Given the description of an element on the screen output the (x, y) to click on. 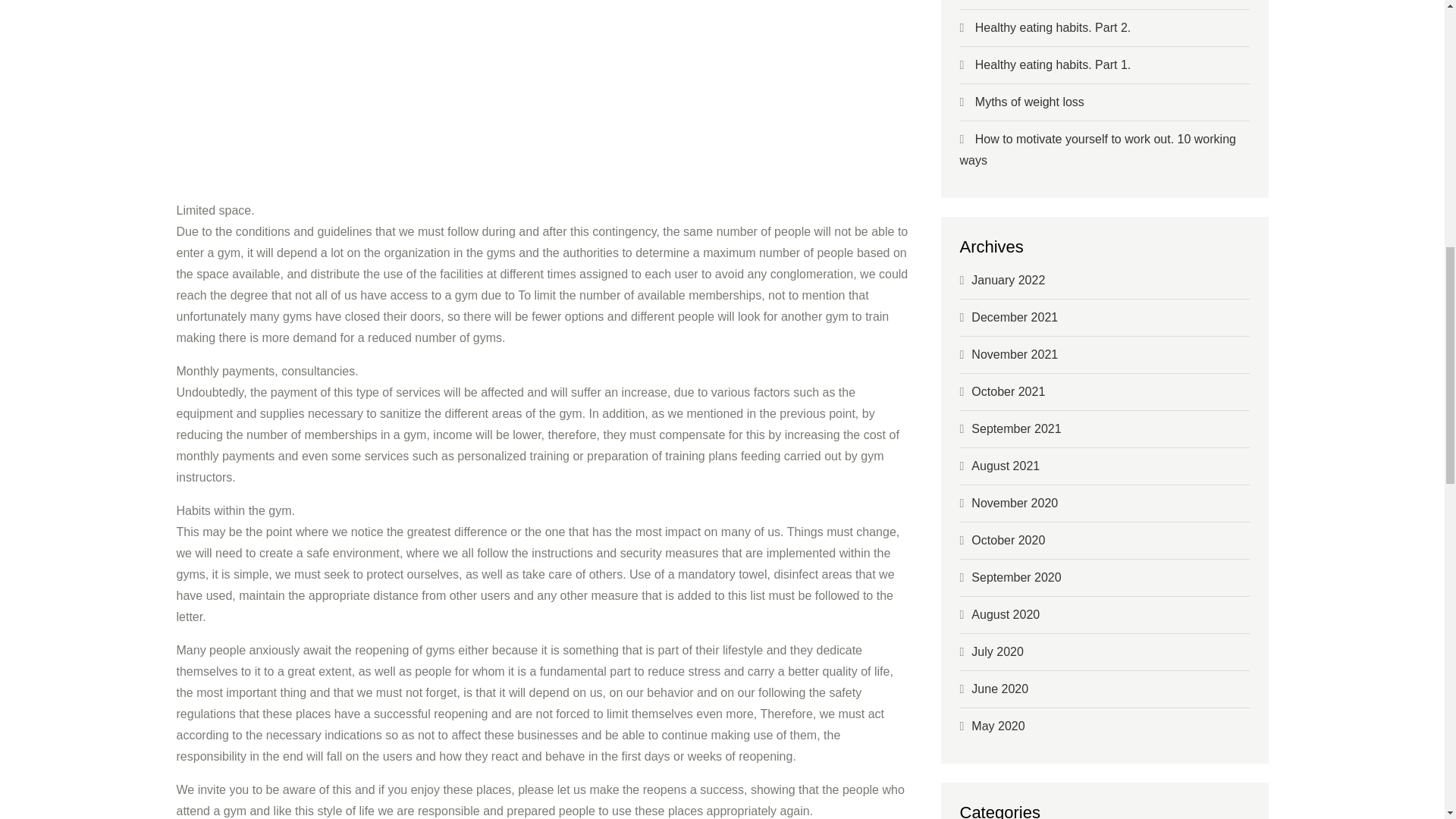
August 2021 (1005, 465)
January 2022 (1008, 279)
June 2020 (999, 688)
July 2020 (997, 651)
Myths of weight loss (1029, 101)
September 2020 (1016, 576)
Healthy eating habits. Part 1. (1053, 64)
How to motivate yourself to work out. 10 working ways (1097, 149)
August 2020 (1005, 614)
December 2021 (1014, 317)
